Given the description of an element on the screen output the (x, y) to click on. 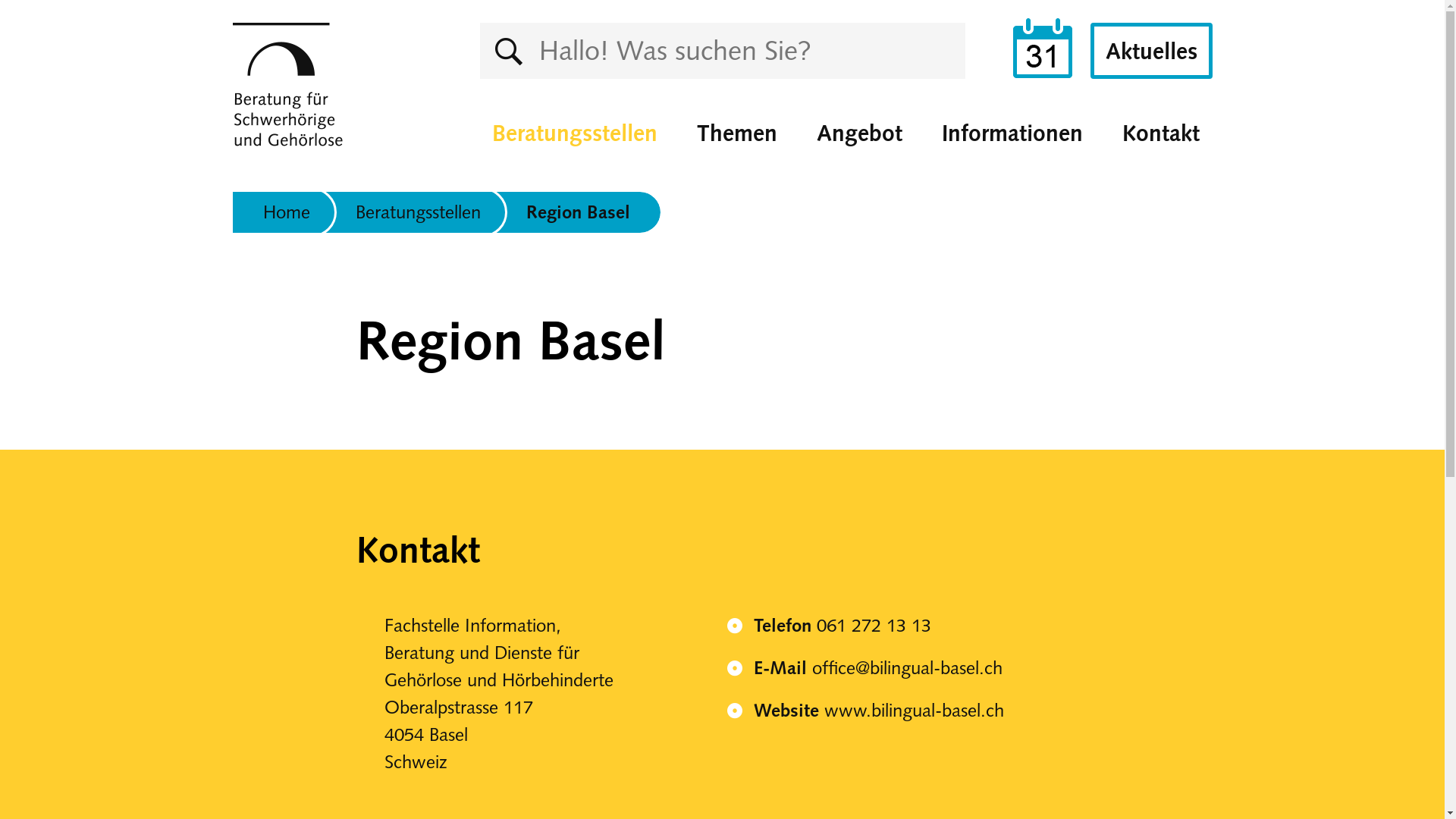
Angebot Element type: text (859, 132)
Home Element type: text (285, 211)
office@bilingual-basel.ch Element type: text (906, 667)
Beratungsstellen Element type: text (413, 211)
www.bilingual-basel.ch Element type: text (913, 710)
Themen Element type: text (736, 132)
Informationen Element type: text (1011, 132)
Kontakt Element type: text (1160, 132)
Aktuelles Element type: text (1151, 50)
Beratungsstellen Element type: text (574, 132)
